Given the description of an element on the screen output the (x, y) to click on. 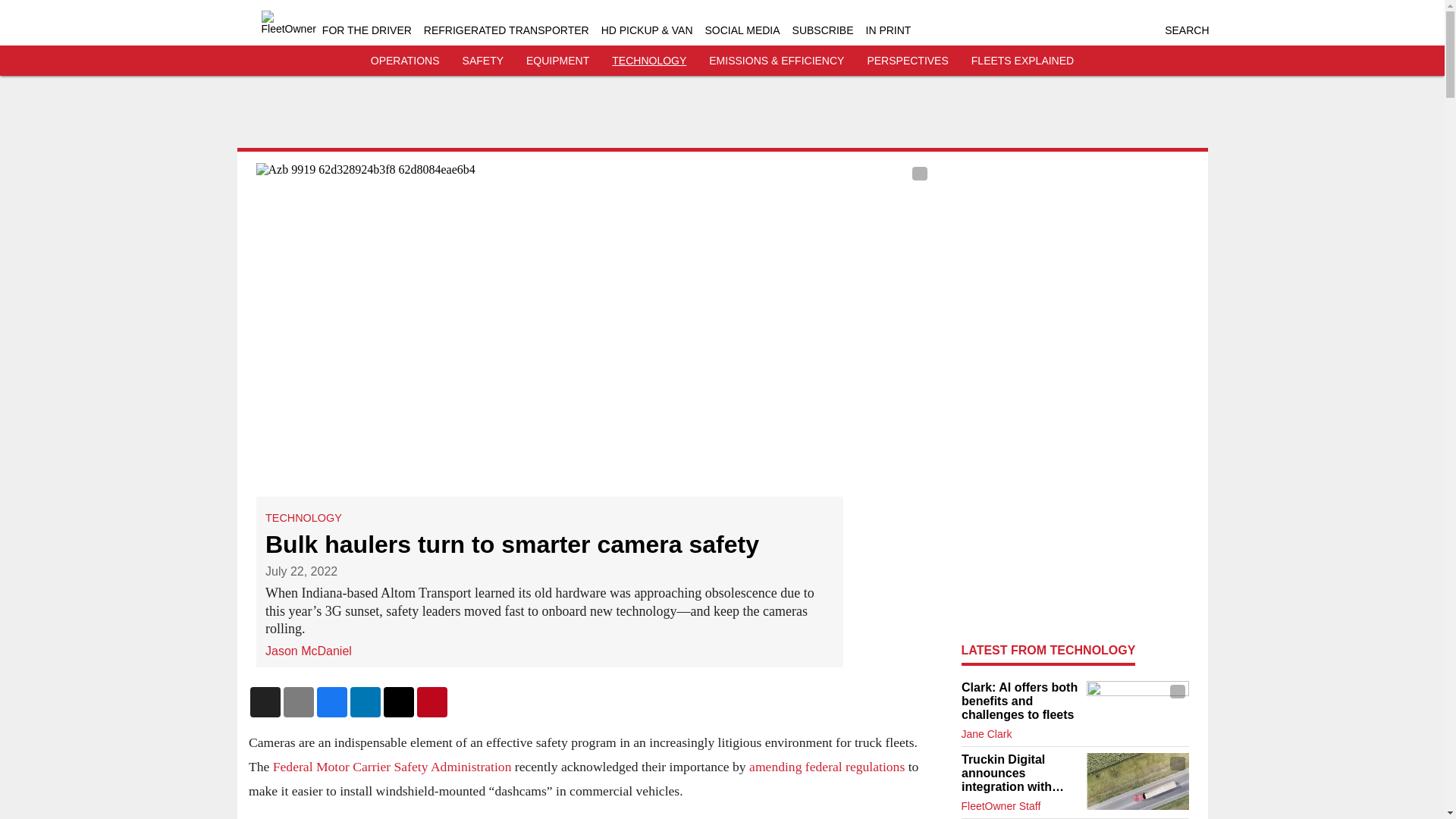
amending federal regulations (826, 766)
TECHNOLOGY (648, 60)
Federal Motor Carrier Safety Administration (391, 766)
Jason McDaniel (308, 649)
EQUIPMENT (557, 60)
SAFETY (483, 60)
TECHNOLOGY (303, 517)
FOR THE DRIVER (366, 30)
SOCIAL MEDIA (742, 30)
SUBSCRIBE (822, 30)
FLEETS EXPLAINED (1022, 60)
PERSPECTIVES (906, 60)
SEARCH (1186, 30)
REFRIGERATED TRANSPORTER (506, 30)
